Given the description of an element on the screen output the (x, y) to click on. 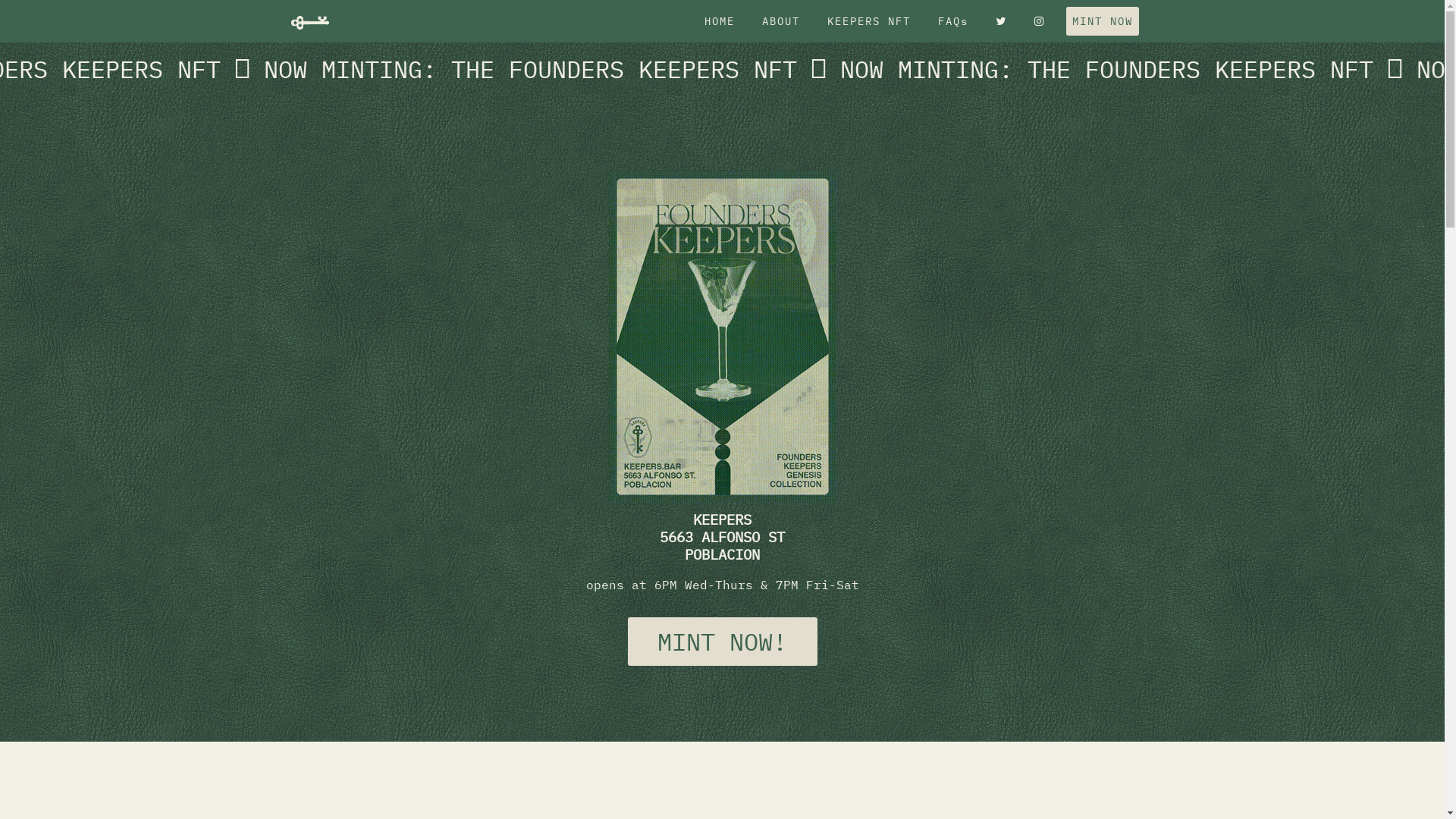
HOME Element type: text (718, 20)
ABOUT Element type: text (780, 20)
KEEPERS NFT Element type: text (868, 20)
FAQs Element type: text (952, 20)
MINT NOW! Element type: text (722, 641)
MINT NOW Element type: text (1102, 20)
